Given the description of an element on the screen output the (x, y) to click on. 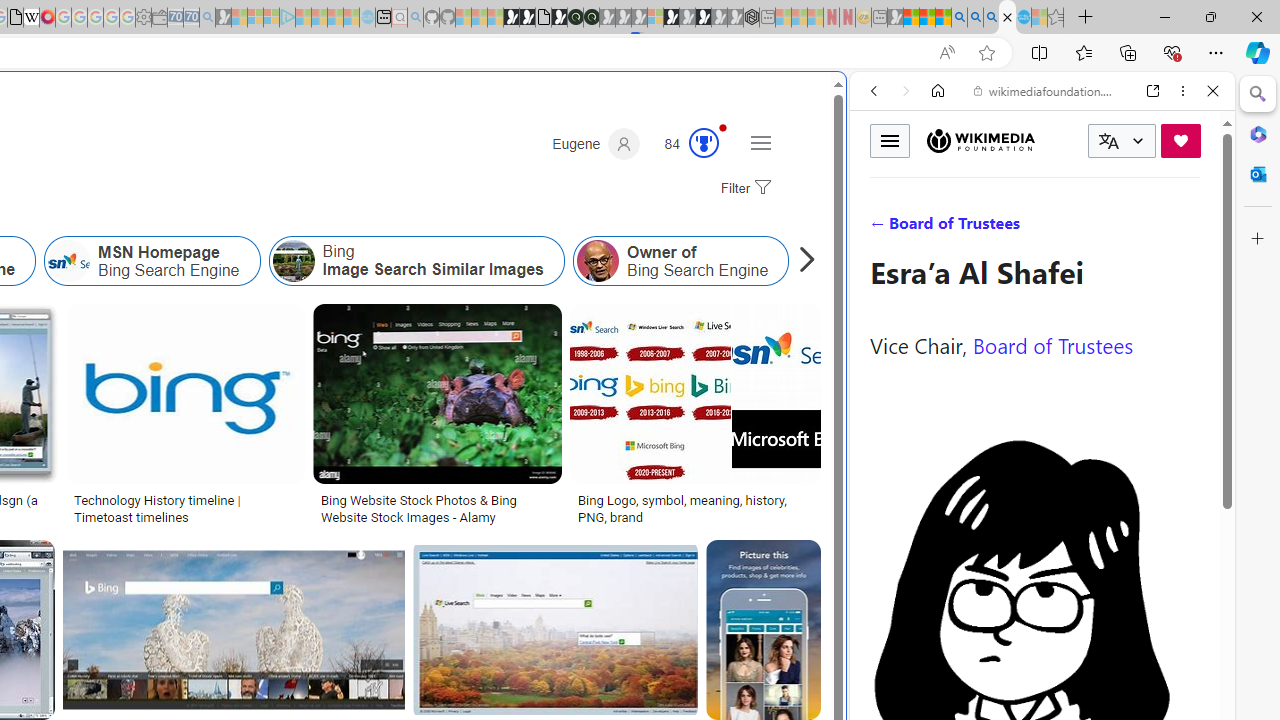
Web scope (882, 180)
Filter (743, 189)
CURRENT LANGUAGE: (1121, 141)
github - Search - Sleeping (415, 17)
Technology History timeline | Timetoast timelines (185, 508)
